Given the description of an element on the screen output the (x, y) to click on. 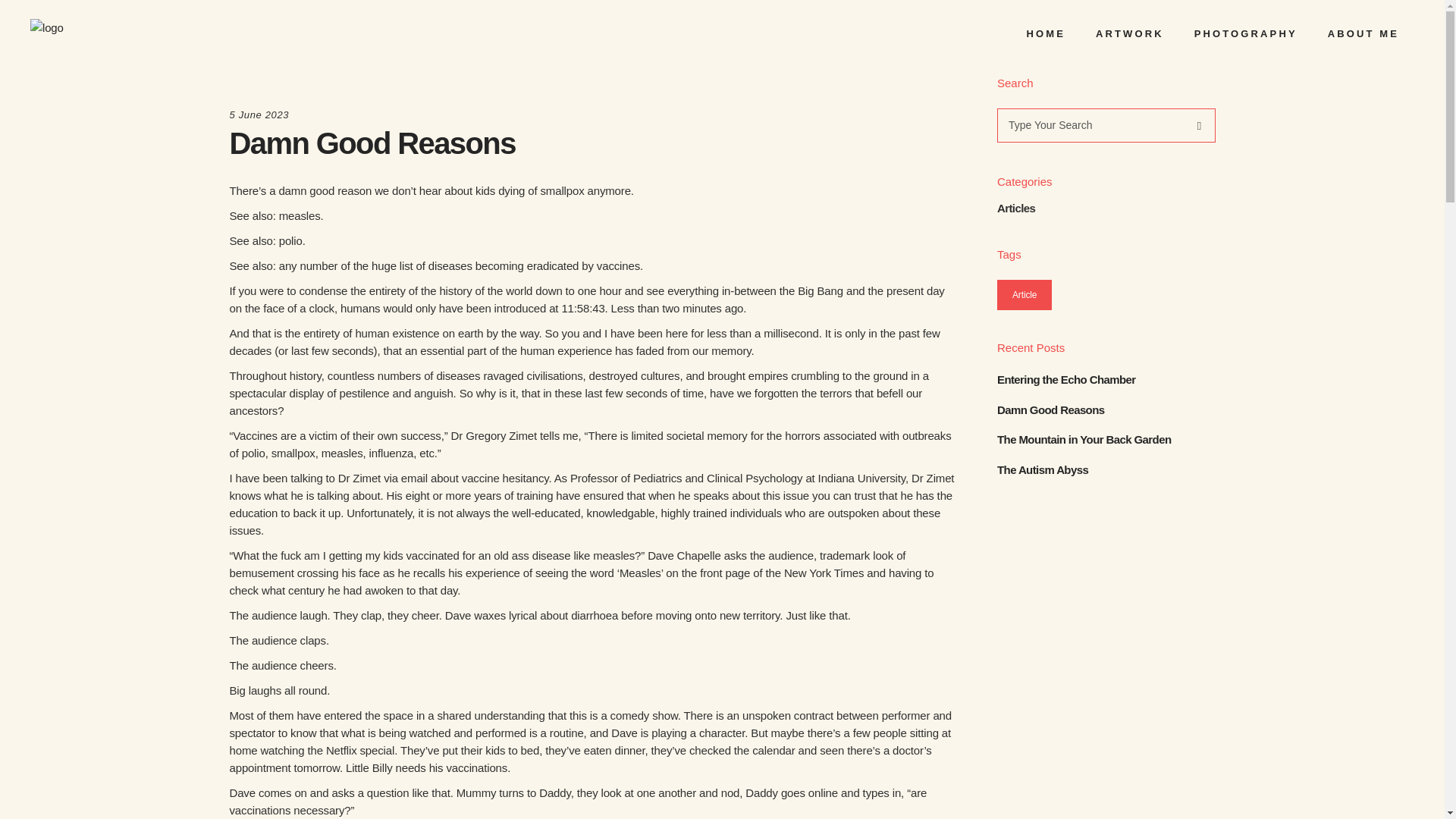
PHOTOGRAPHY (1246, 33)
5 June 2023 (258, 114)
Article (1024, 294)
Articles (1016, 207)
ARTWORK (1129, 33)
HOME (1045, 33)
Entering the Echo Chamber (1106, 379)
The Mountain in Your Back Garden (1106, 439)
Damn Good Reasons (1106, 409)
Search for: (1091, 124)
ABOUT ME (1363, 33)
The Autism Abyss (1106, 469)
